Given the description of an element on the screen output the (x, y) to click on. 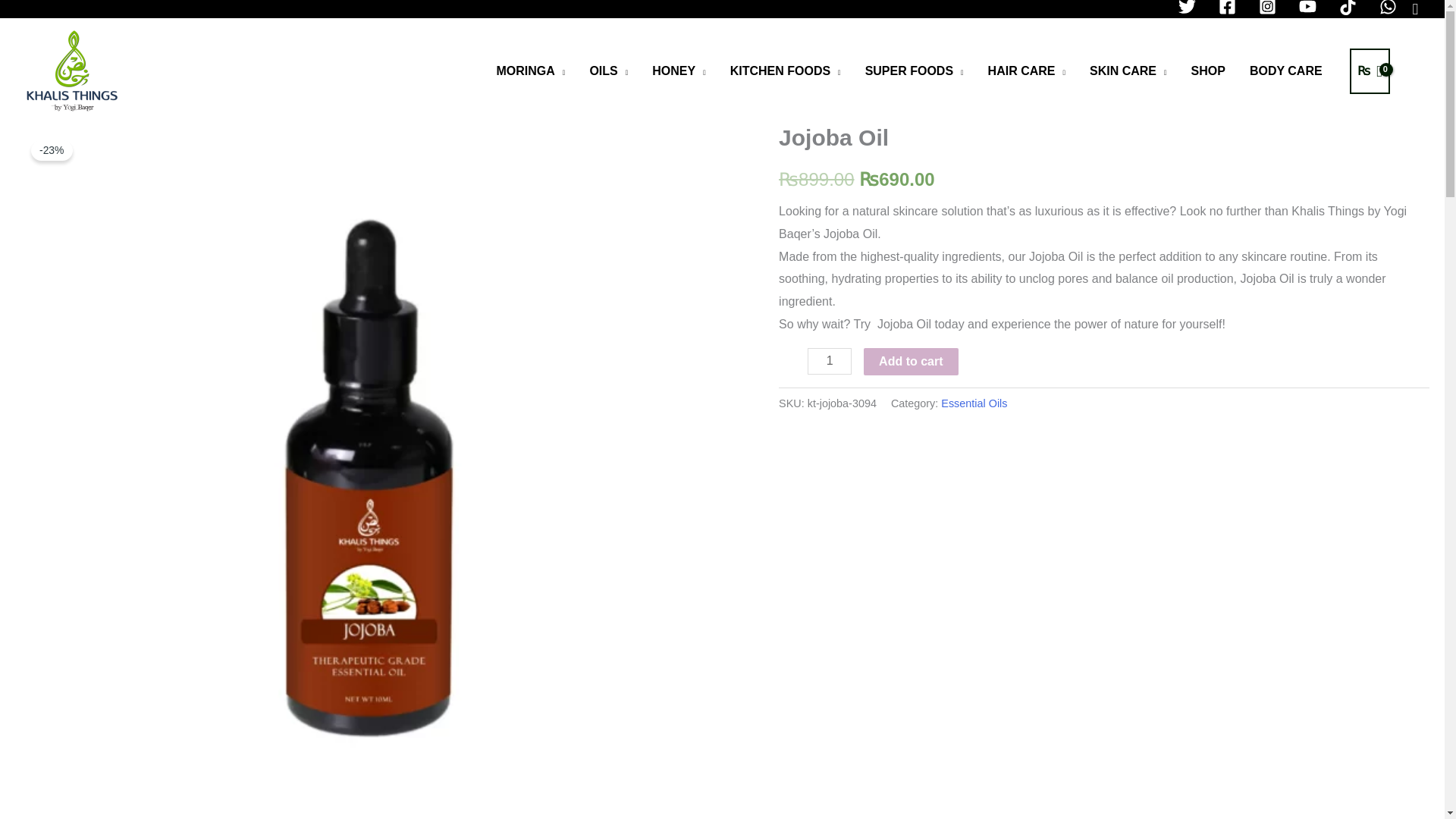
KITCHEN FOODS (785, 71)
1 (829, 361)
MORINGA (531, 71)
